Given the description of an element on the screen output the (x, y) to click on. 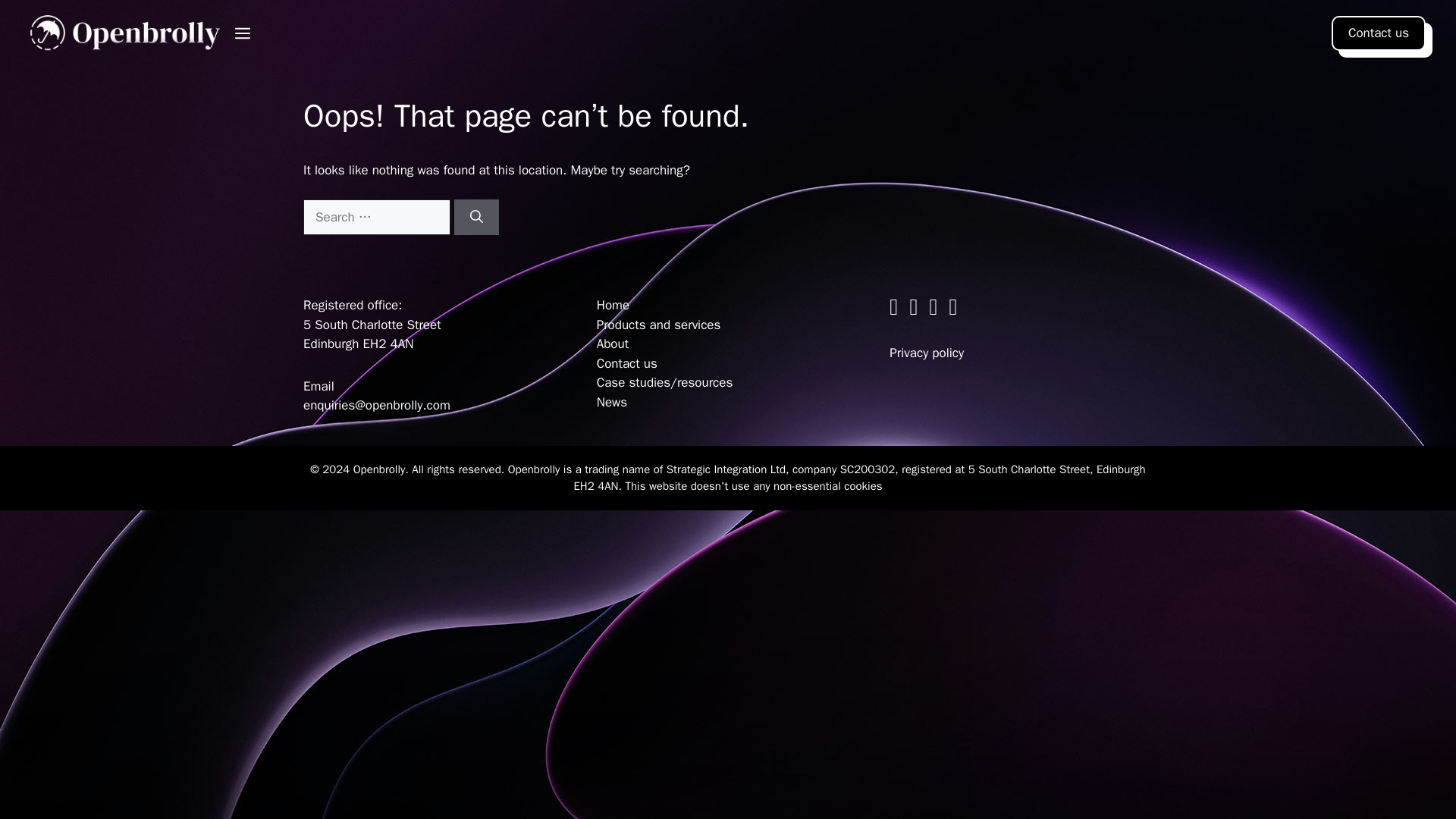
Products and services (658, 324)
Search for: (375, 217)
About (612, 343)
Contact us (1378, 32)
Privacy policy (926, 352)
Contact us (627, 363)
News (611, 401)
Home (612, 304)
